Given the description of an element on the screen output the (x, y) to click on. 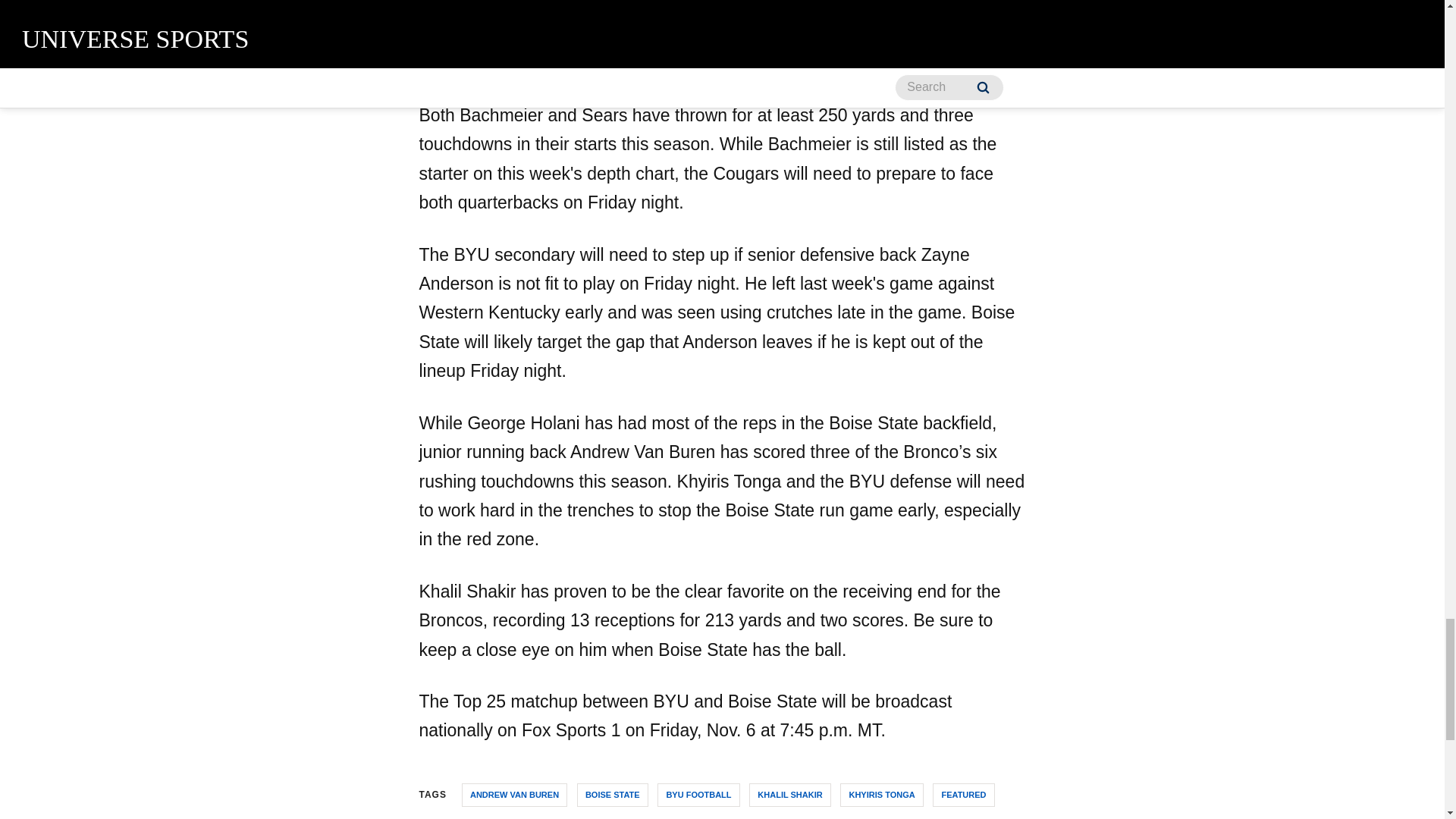
KHALIL SHAKIR (789, 794)
FEATURED (963, 794)
KHYIRIS TONGA (881, 794)
BYU FOOTBALL (698, 794)
ANDREW VAN BUREN (514, 794)
BOISE STATE (611, 794)
